Given the description of an element on the screen output the (x, y) to click on. 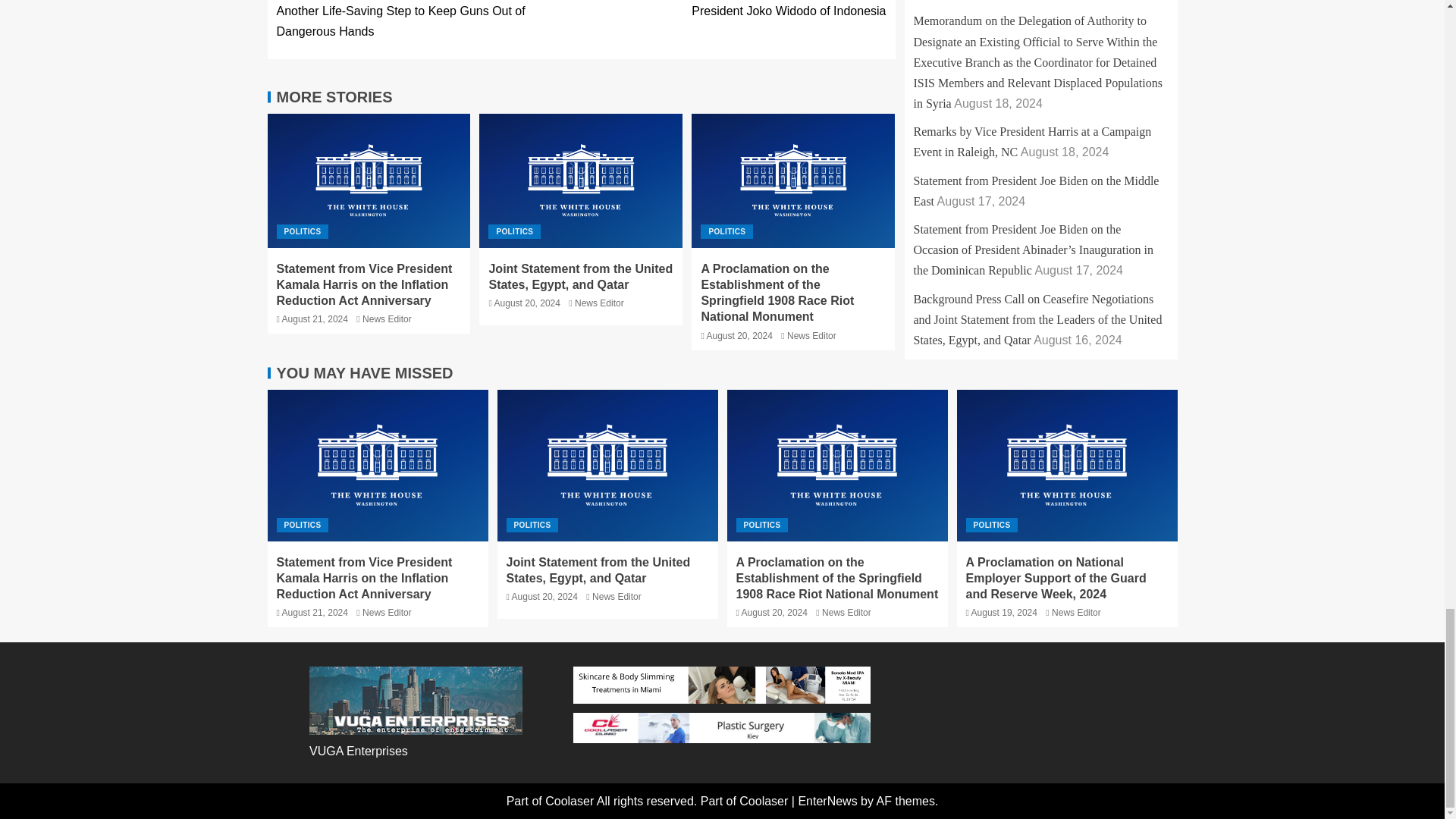
Joint Statement from the United States, Egypt, and Qatar (579, 276)
News Editor (599, 303)
POLITICS (302, 231)
POLITICS (513, 231)
News Editor (387, 318)
POLITICS (726, 231)
News Editor (811, 335)
